Given the description of an element on the screen output the (x, y) to click on. 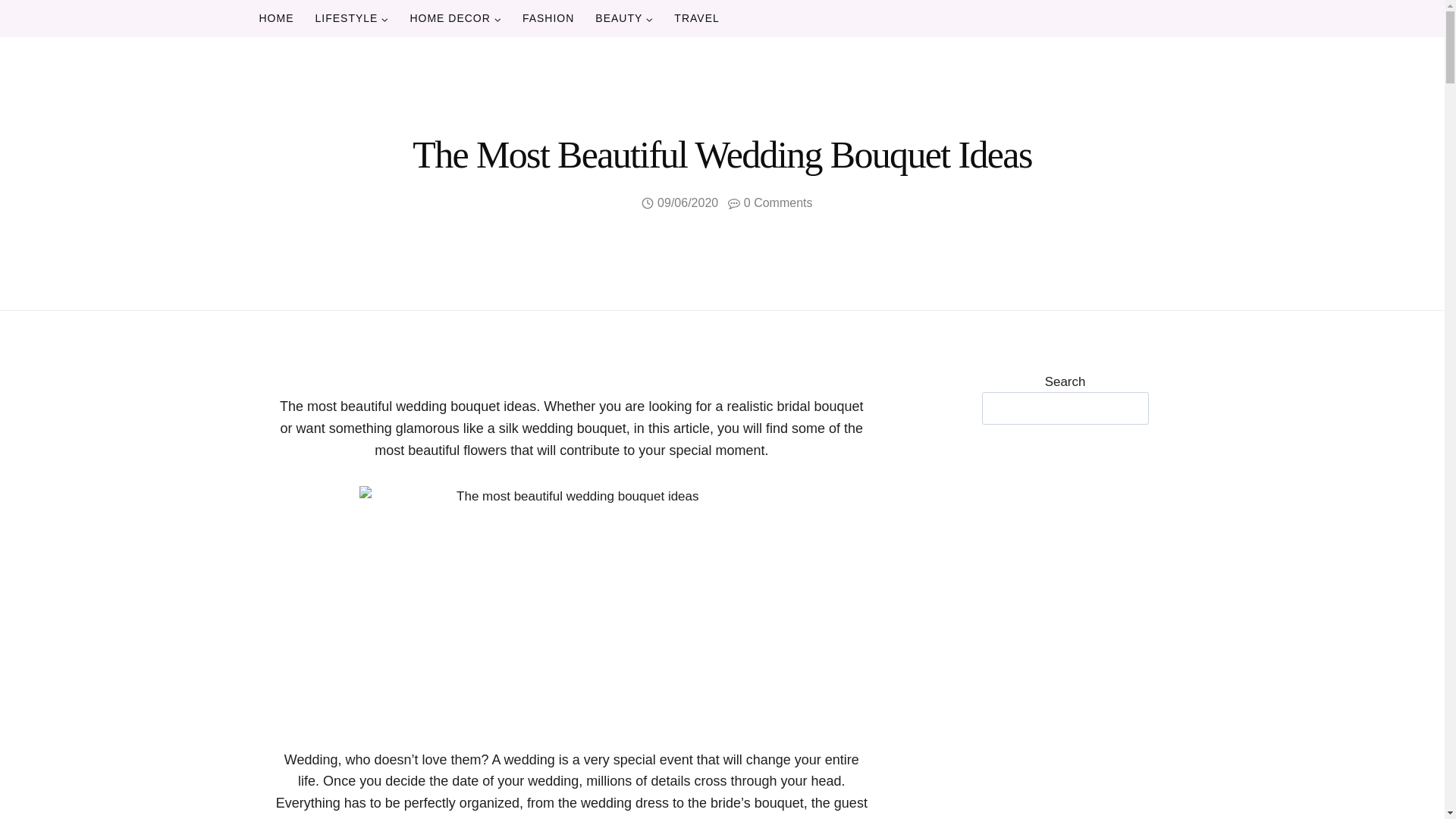
LIFESTYLE (351, 18)
FASHION (548, 18)
BEAUTY (624, 18)
0 Comments (778, 202)
0 Comments (778, 202)
HOME (276, 18)
TRAVEL (696, 18)
HOME DECOR (454, 18)
